Given the description of an element on the screen output the (x, y) to click on. 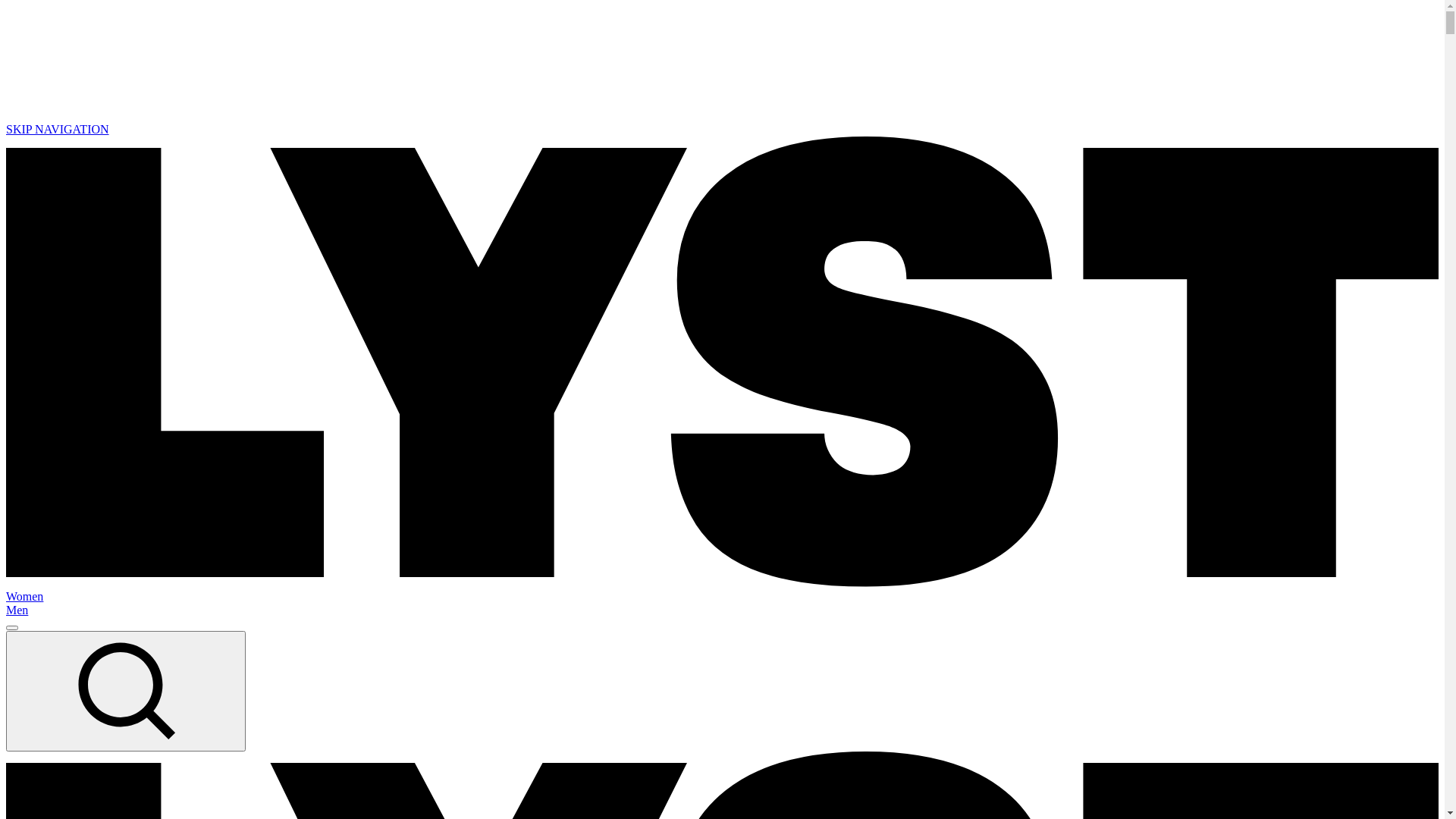
Men Element type: text (722, 610)
Women Element type: text (722, 596)
SKIP NAVIGATION Element type: text (57, 128)
